Given the description of an element on the screen output the (x, y) to click on. 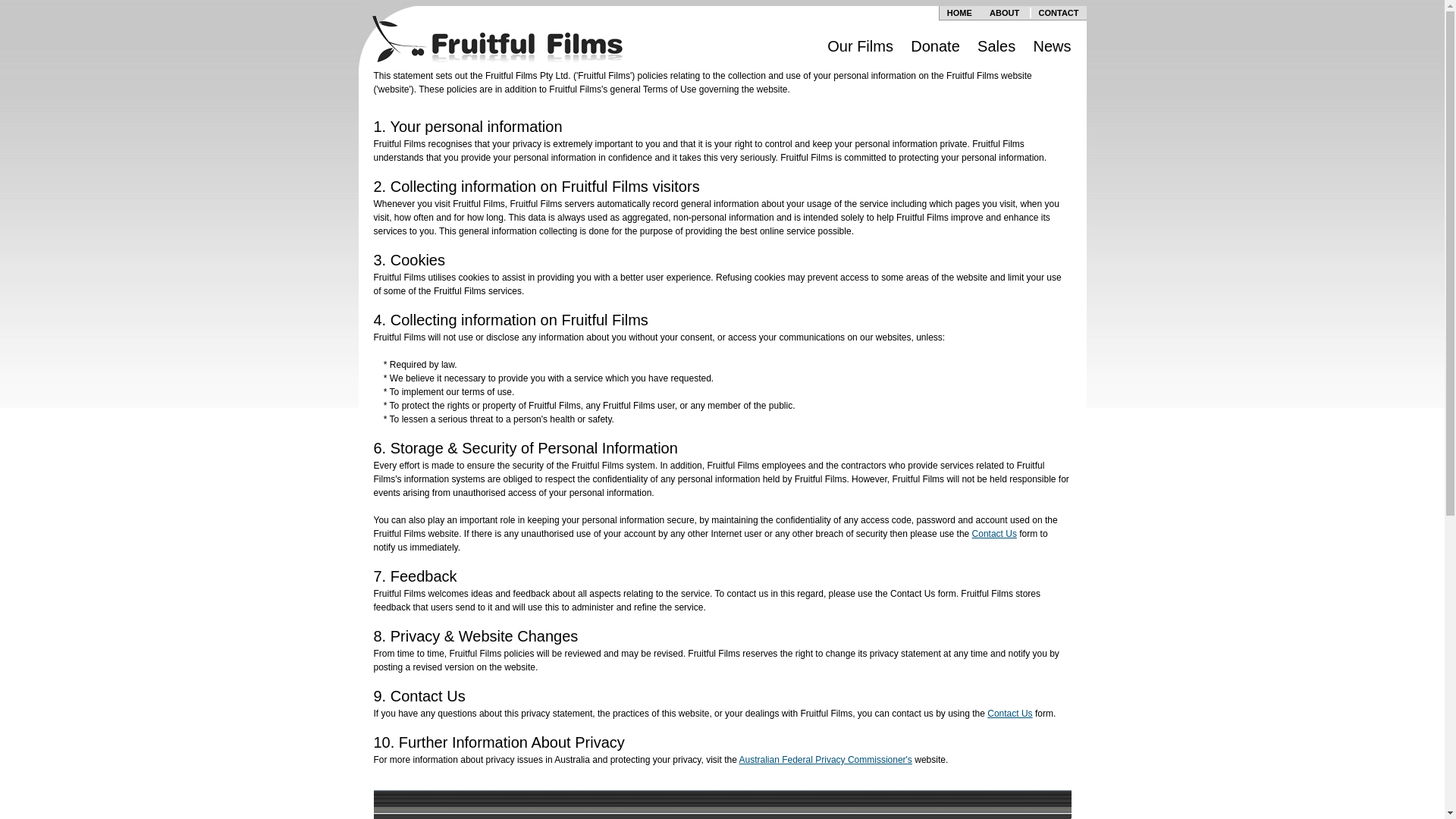
Contact Us Element type: text (994, 533)
Contact Us Element type: text (1009, 713)
News Element type: text (1051, 45)
HOME Element type: text (959, 12)
Donate Element type: text (935, 45)
Our Films Element type: text (860, 45)
Australian Federal Privacy Commissioner's Element type: text (824, 759)
CONTACT Element type: text (1058, 12)
ABOUT Element type: text (1004, 12)
Sales Element type: text (996, 45)
